Given the description of an element on the screen output the (x, y) to click on. 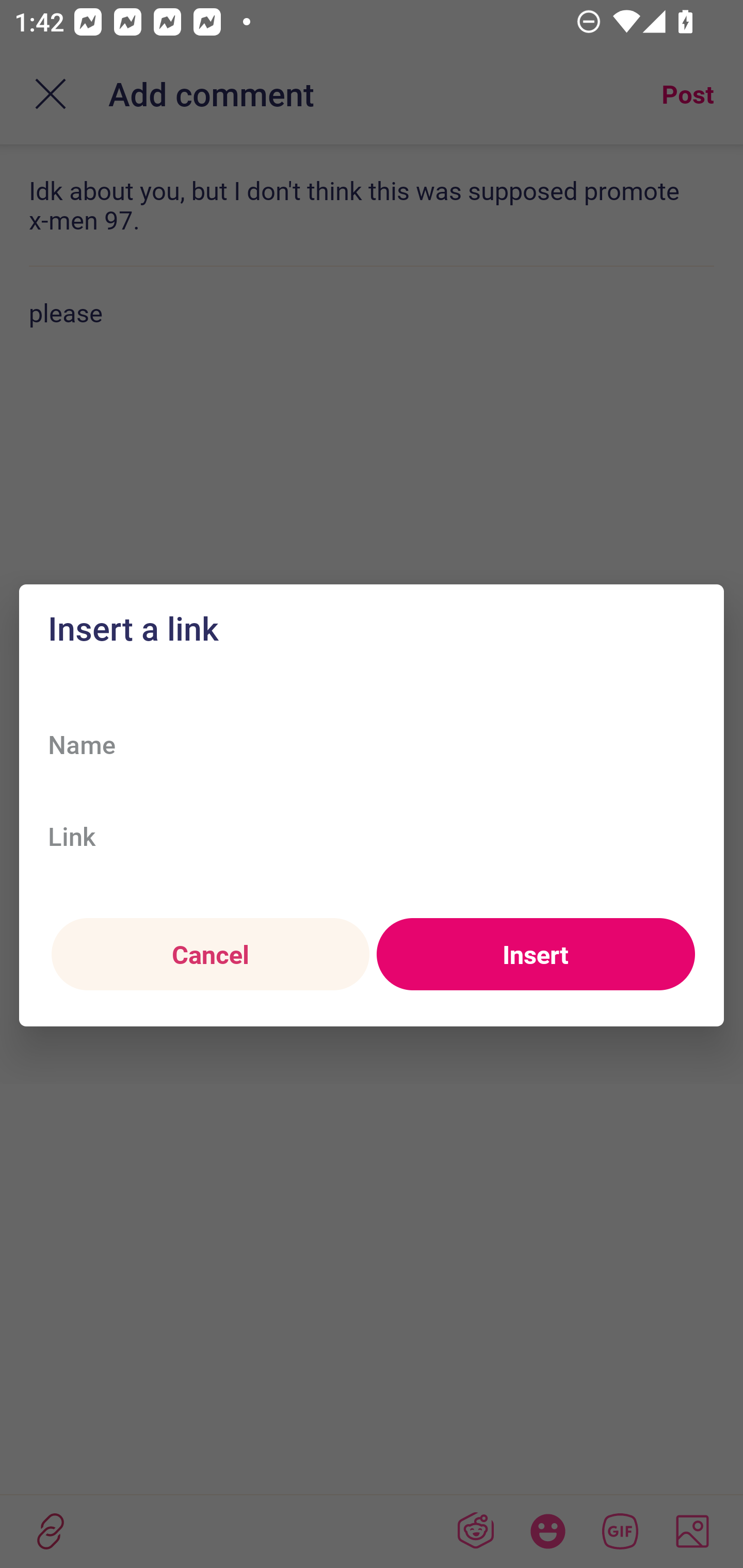
Name (371, 743)
Link (371, 835)
Cancel (210, 954)
Insert (535, 954)
